Given the description of an element on the screen output the (x, y) to click on. 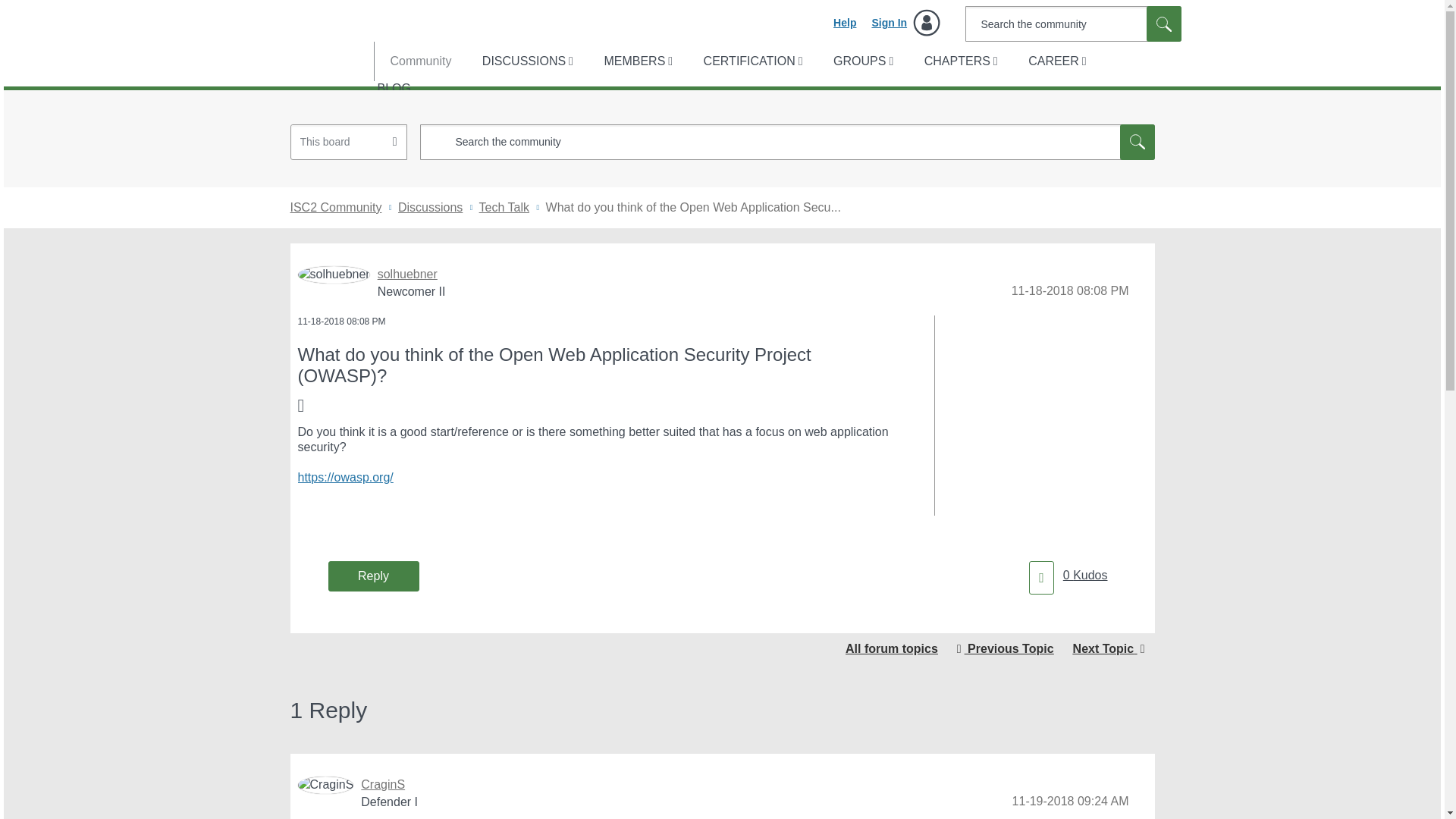
Search (1136, 141)
Help (844, 22)
CERTIFICATION (751, 61)
Search (1163, 23)
Search (787, 141)
CHAPTERS (959, 61)
Search (1163, 23)
Sign In (906, 22)
Search Granularity (348, 141)
DISCUSSIONS (526, 61)
